Given the description of an element on the screen output the (x, y) to click on. 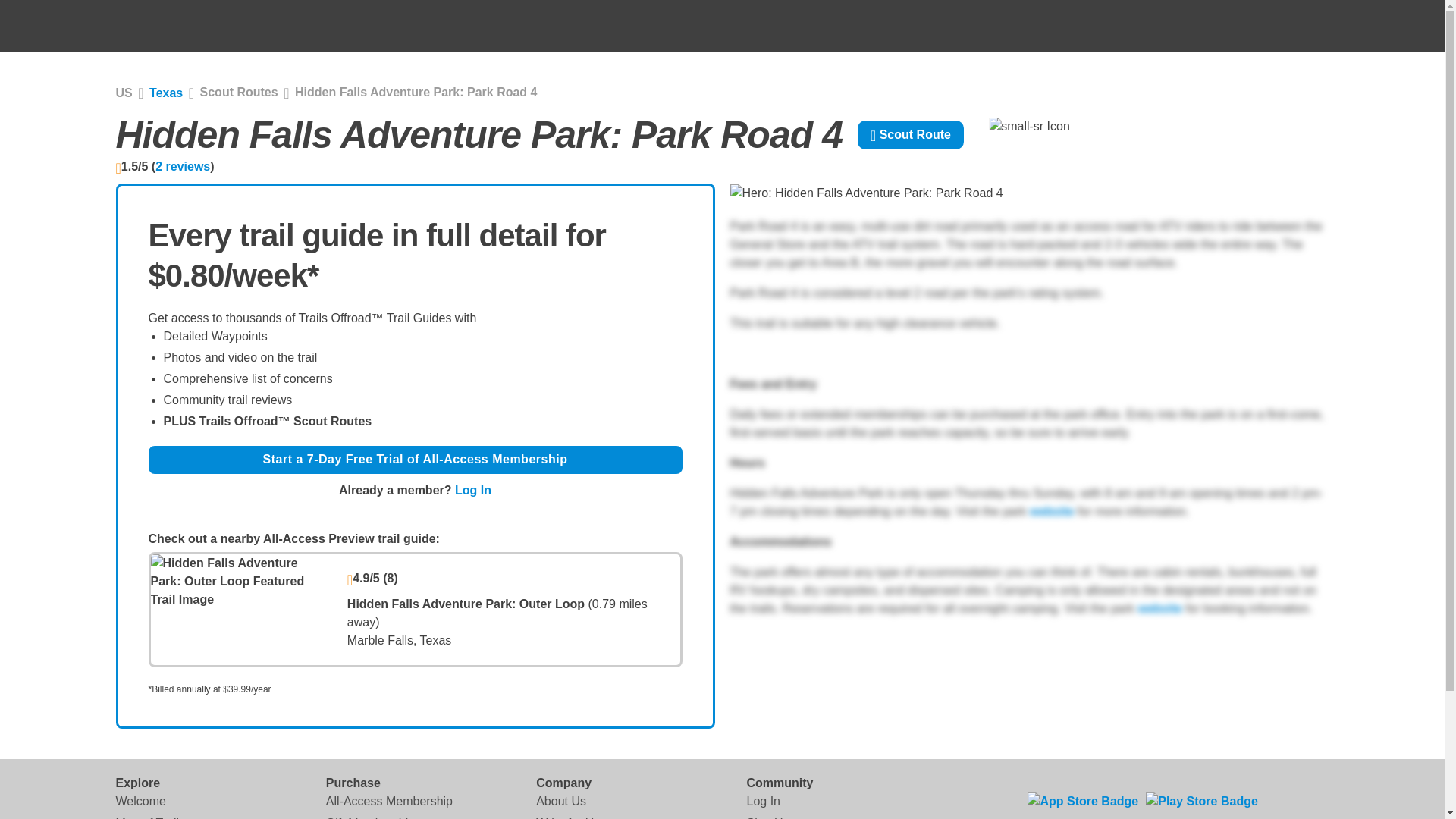
Sign Up (767, 816)
Log In (473, 490)
Log In (761, 800)
Start a 7-Day Free Trial of All-Access Membership (415, 459)
All-Access Membership (389, 800)
2 reviews (182, 165)
Write for Us (567, 816)
website (1051, 511)
Welcome (140, 800)
About Us (560, 800)
